Given the description of an element on the screen output the (x, y) to click on. 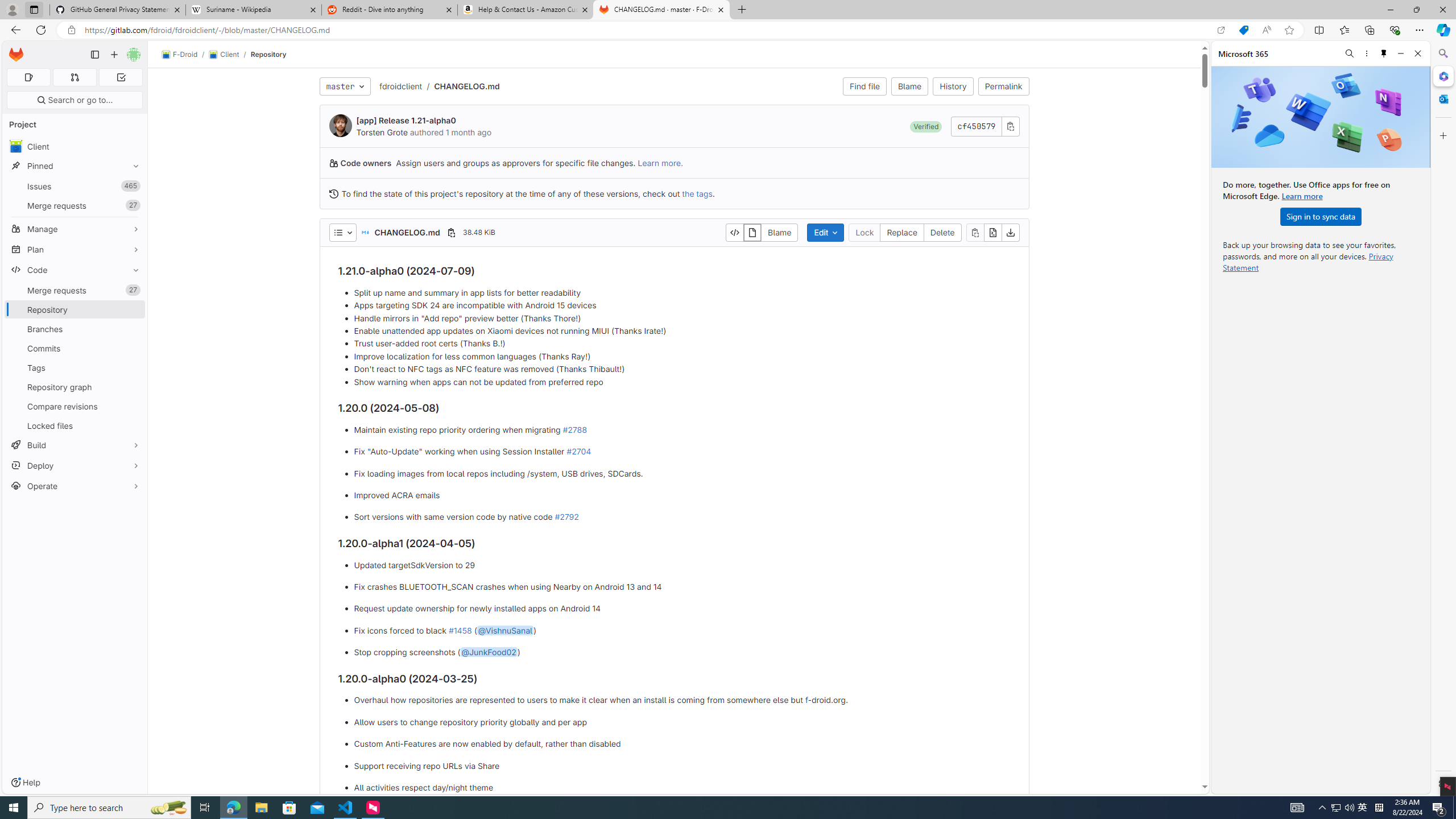
Merge requests 27 (74, 289)
Learn more about Microsoft Office. (1302, 195)
F-Droid/ (185, 54)
Operate (74, 485)
Improved ACRA emails (681, 495)
@JunkFood02 (488, 652)
fdroidclient (400, 85)
Tags (74, 367)
Plan (74, 248)
Suriname - Wikipedia (253, 9)
Torsten Grote (381, 131)
